Given the description of an element on the screen output the (x, y) to click on. 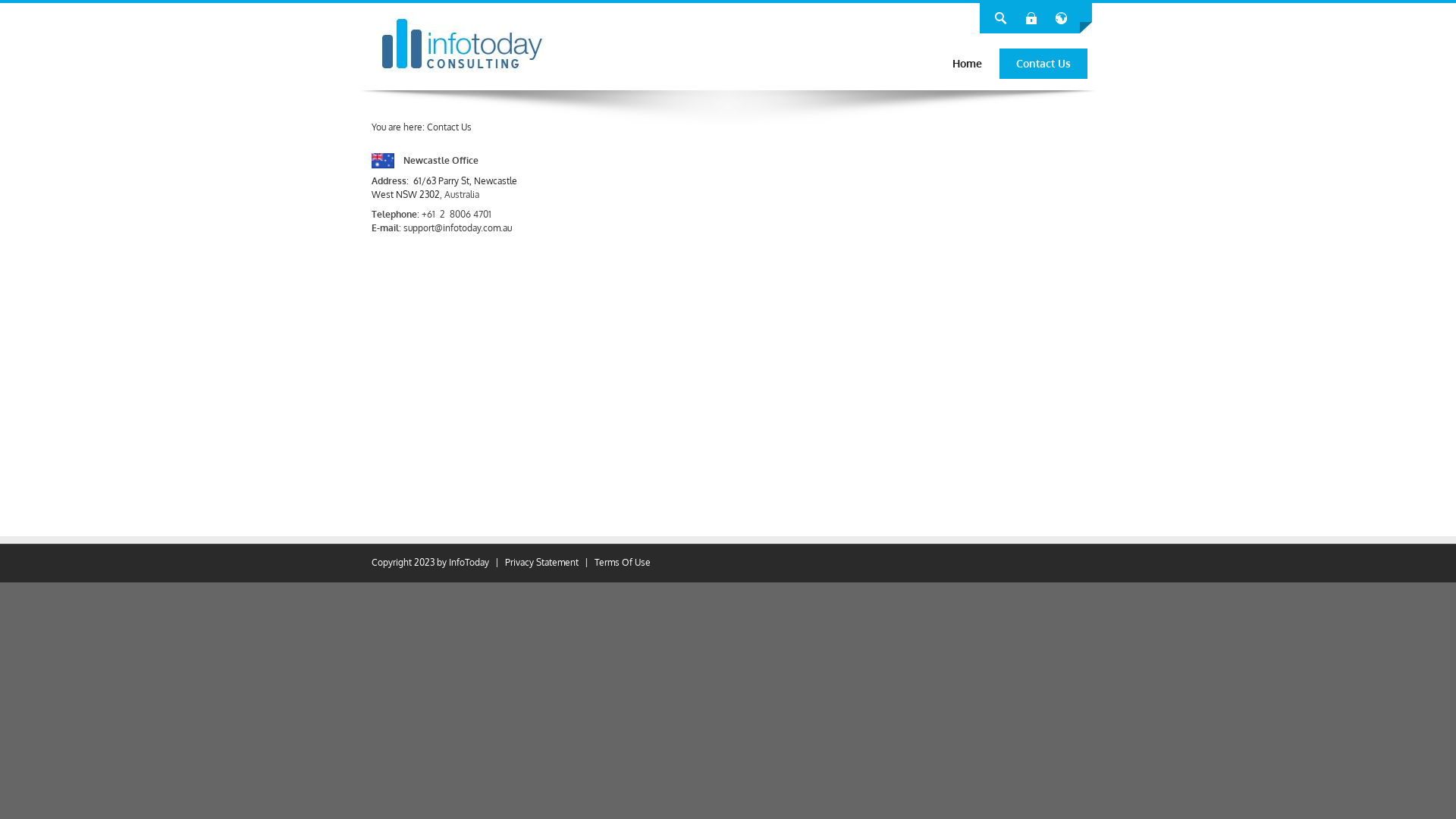
Contact Us Element type: text (448, 126)
Privacy Statement Element type: text (541, 561)
Home Element type: text (966, 63)
InfoToday Consulting Element type: hover (462, 43)
Click to Search Element type: hover (1000, 17)
Contact Us Element type: text (1043, 63)
Change Language Element type: hover (1061, 17)
Terms Of Use Element type: text (622, 561)
support@infotoday.com.au Element type: text (457, 227)
